Given the description of an element on the screen output the (x, y) to click on. 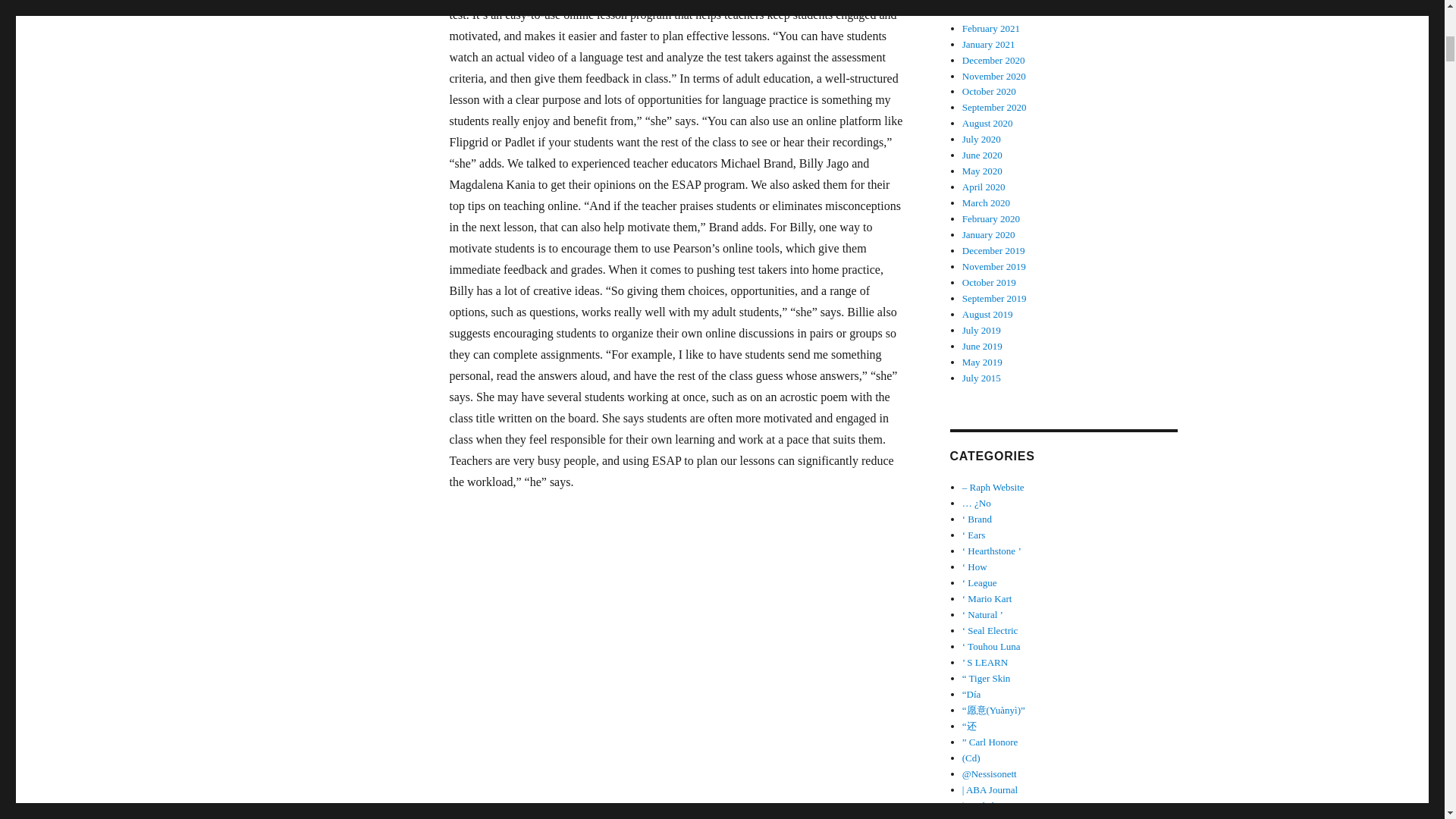
April 2020 (984, 186)
June 2020 (982, 154)
July 2020 (981, 138)
March 2020 (986, 202)
March 2021 (986, 12)
April 2021 (984, 1)
February 2020 (991, 218)
November 2020 (994, 75)
August 2020 (987, 122)
January 2020 (988, 234)
May 2020 (982, 170)
October 2020 (989, 91)
December 2020 (993, 60)
February 2021 (991, 28)
January 2021 (988, 43)
